Given the description of an element on the screen output the (x, y) to click on. 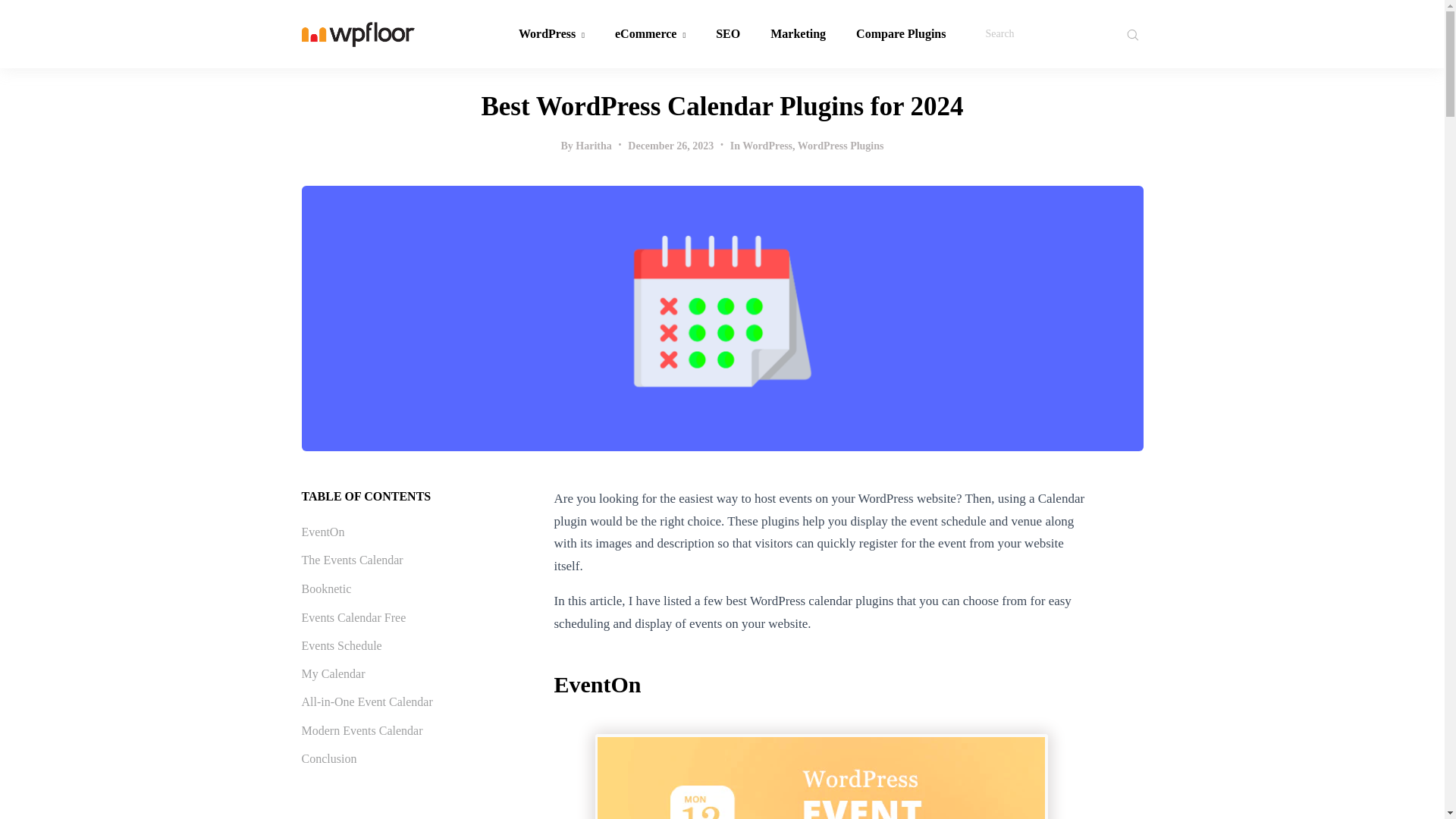
WordPress Plugins (840, 145)
eCommerce (649, 33)
All-in-One Event Calendar (366, 701)
Compare Plugins (900, 33)
My Calendar (333, 673)
EventOn (323, 531)
Booknetic (326, 588)
Events Schedule (341, 645)
Events Calendar Free (353, 617)
Modern Events Calendar (362, 730)
